Given the description of an element on the screen output the (x, y) to click on. 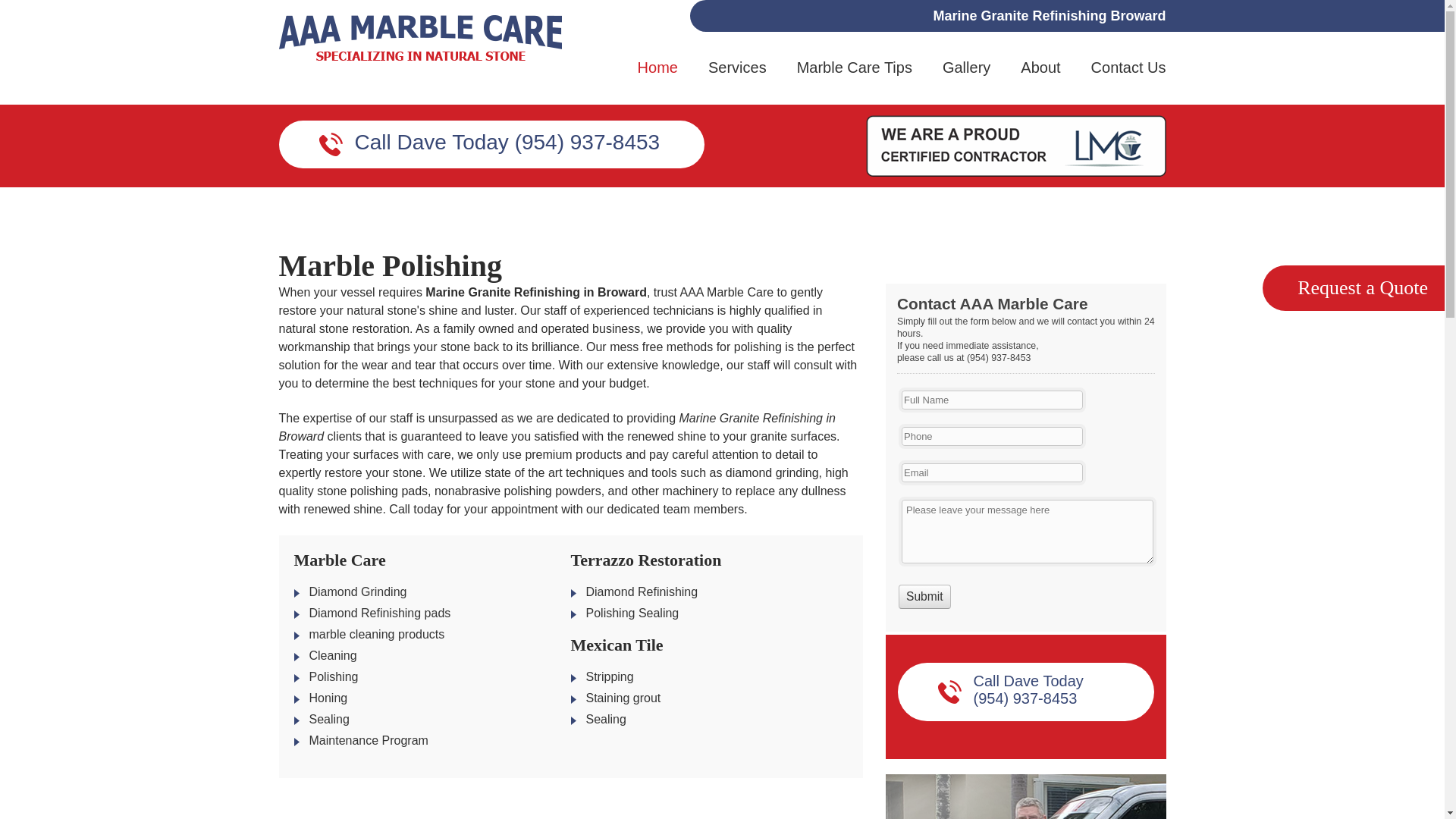
Home (657, 81)
Services (737, 81)
Marble Care Tips (854, 81)
Gallery (966, 81)
Contact Us (1128, 81)
